Given the description of an element on the screen output the (x, y) to click on. 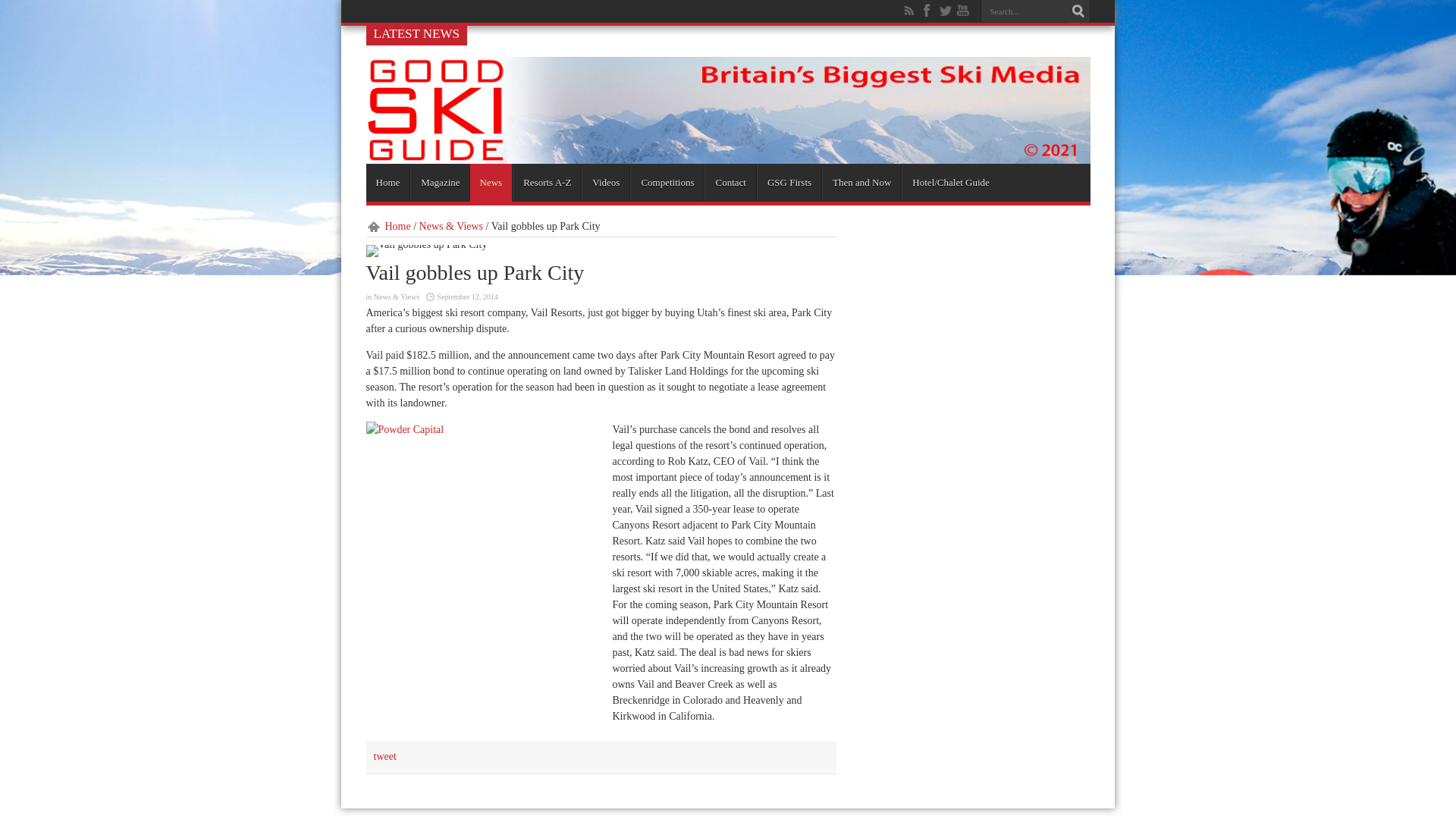
Rss (908, 10)
Magazine (439, 182)
GSG Firsts (789, 182)
Vail gobbles up Park City (425, 250)
Resorts A-Z (546, 182)
Search (1078, 11)
Twitter (944, 10)
Competitions (666, 182)
Contact (729, 182)
Search... (1023, 11)
Then and Now (861, 182)
Search (1078, 11)
Search (1078, 11)
Youtube (963, 10)
Home (387, 182)
